Given the description of an element on the screen output the (x, y) to click on. 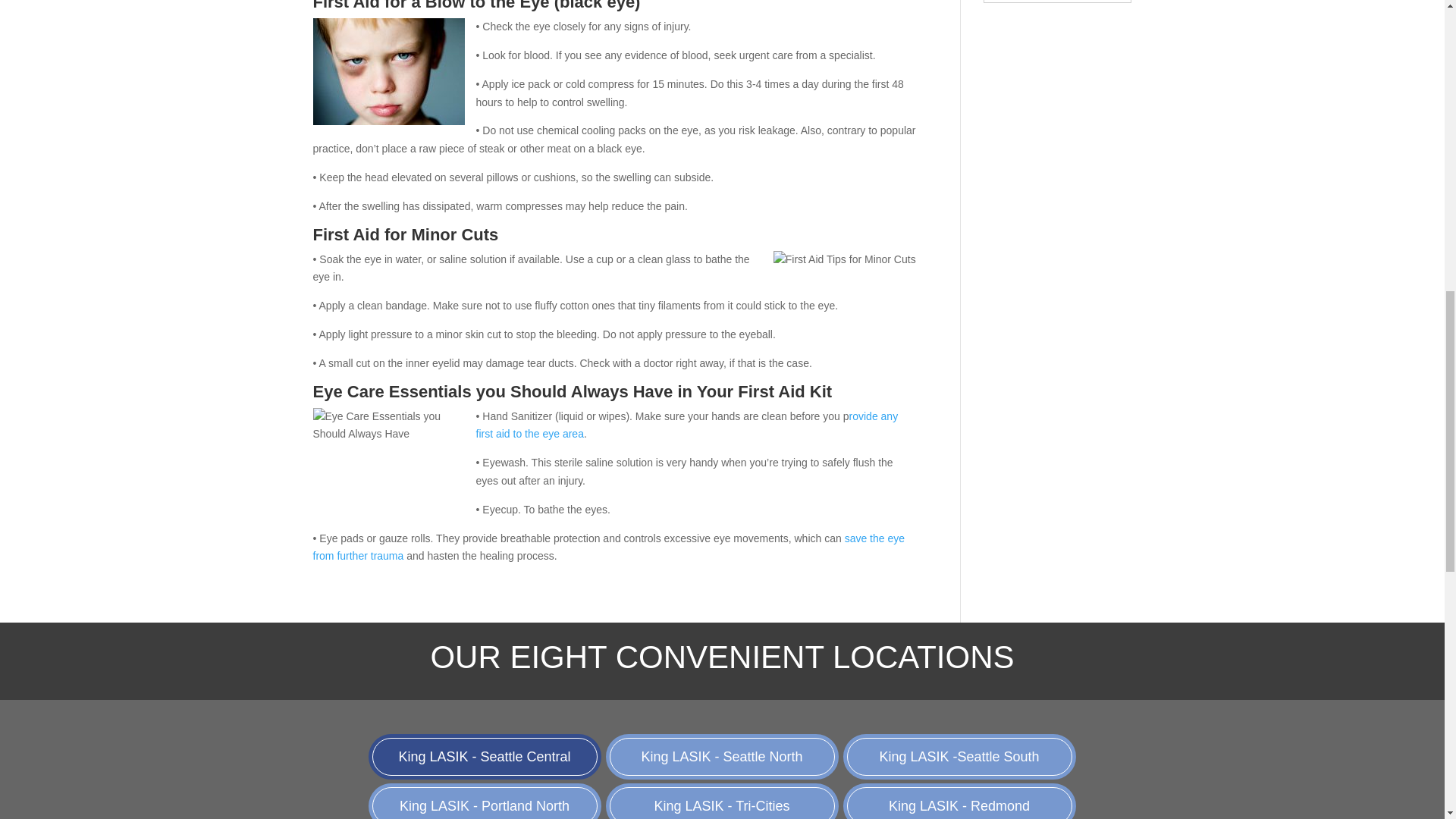
First Aid for a Black Eyes (388, 71)
First Aid for Minor Cuts (844, 259)
